Given the description of an element on the screen output the (x, y) to click on. 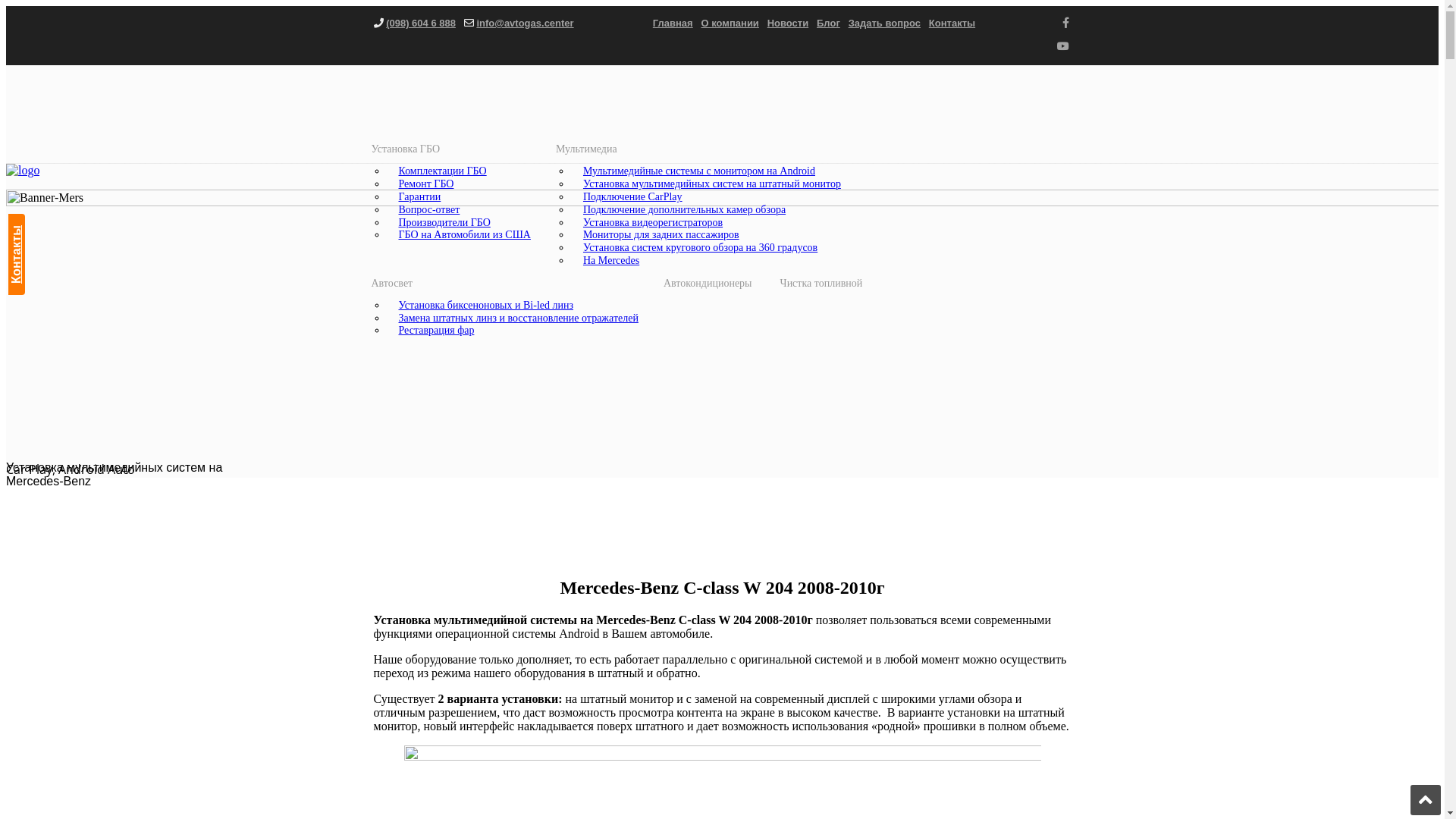
Banner-Mers Element type: hover (722, 325)
info@avtogas.center Element type: text (524, 22)
(098) 604 6 888 Element type: text (420, 22)
Facebook Element type: hover (1065, 22)
